Given the description of an element on the screen output the (x, y) to click on. 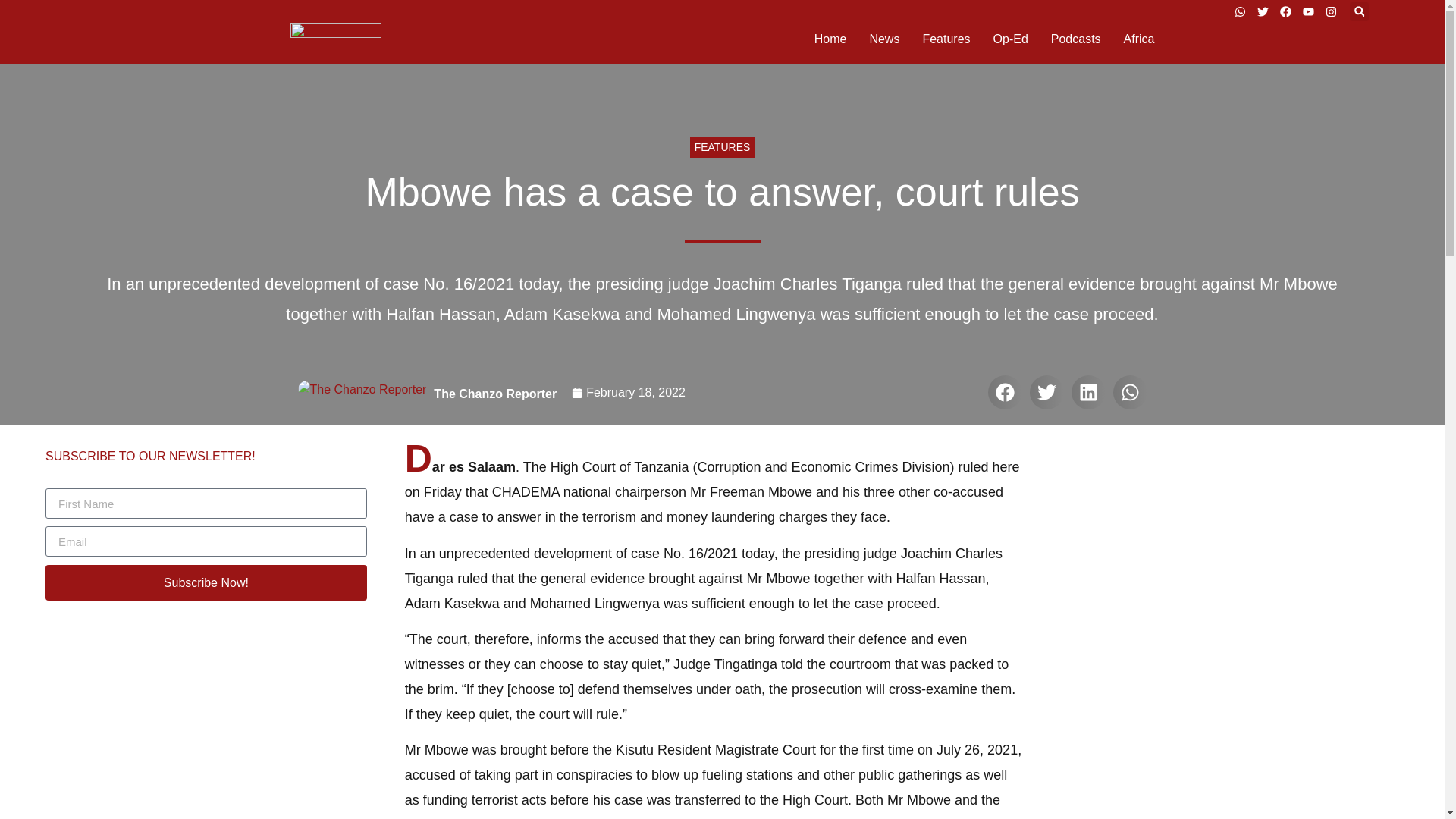
FEATURES (722, 147)
Africa (1139, 39)
News (884, 39)
Op-Ed (1009, 39)
The Chanzo Reporter (494, 393)
Podcasts (1075, 39)
Features (945, 39)
Home (830, 39)
